Given the description of an element on the screen output the (x, y) to click on. 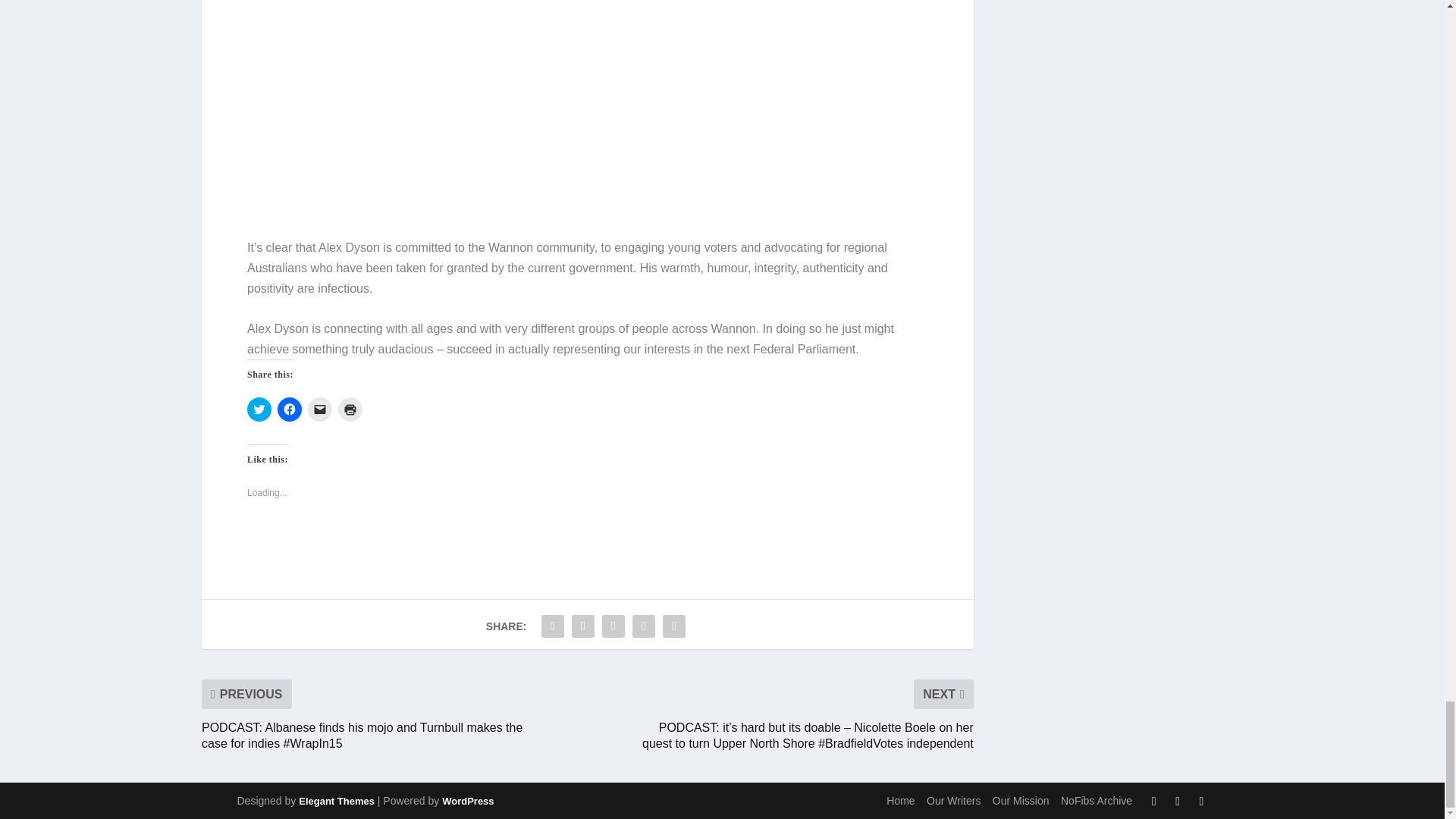
Click to email a link to a friend (319, 409)
Click to share on Facebook (289, 409)
Click to share on Twitter (258, 409)
Click to print (349, 409)
